Given the description of an element on the screen output the (x, y) to click on. 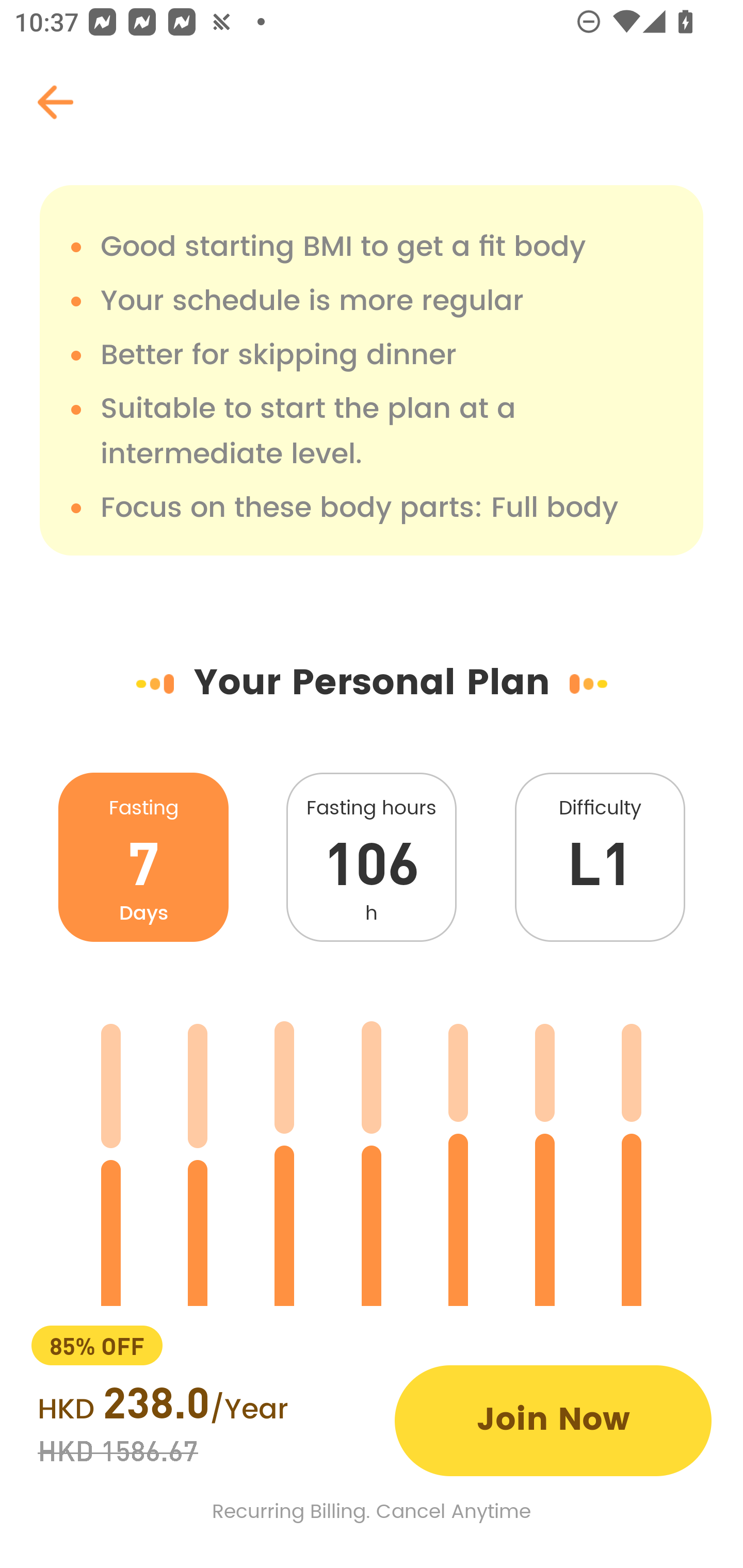
Join Now (552, 1420)
